Given the description of an element on the screen output the (x, y) to click on. 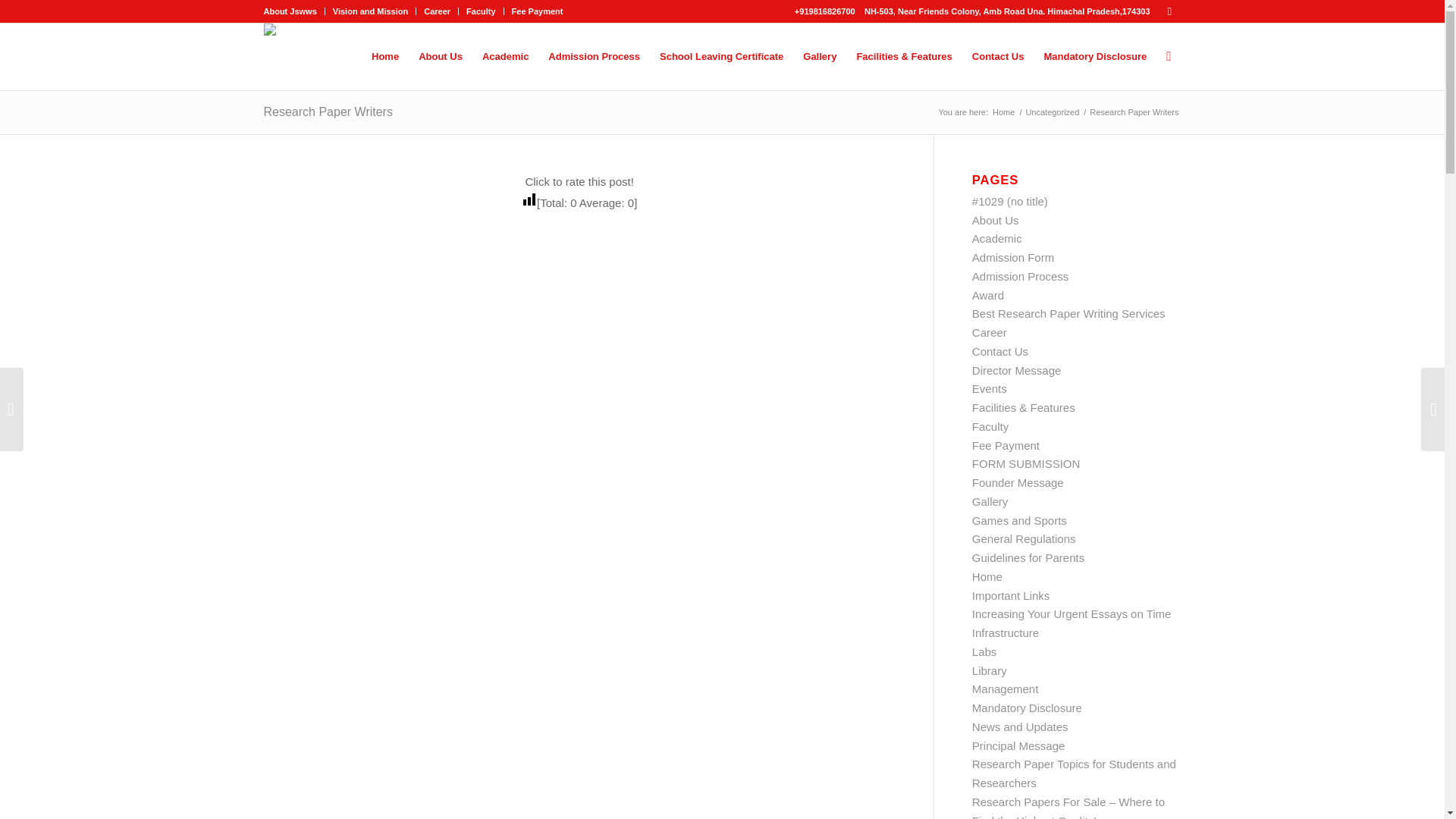
Mandatory Disclosure (1094, 56)
Uncategorized (1052, 112)
Home (1003, 112)
Permanent Link: Research Paper Writers (328, 111)
Contact Us (997, 56)
Academic (997, 237)
School Leaving Certificate (721, 56)
JSWWS (1003, 112)
Admission Process (593, 56)
Research Paper Writers (328, 111)
Faculty (480, 11)
About Jswws (290, 11)
Career (436, 11)
About Us (995, 219)
Fee Payment (537, 11)
